Given the description of an element on the screen output the (x, y) to click on. 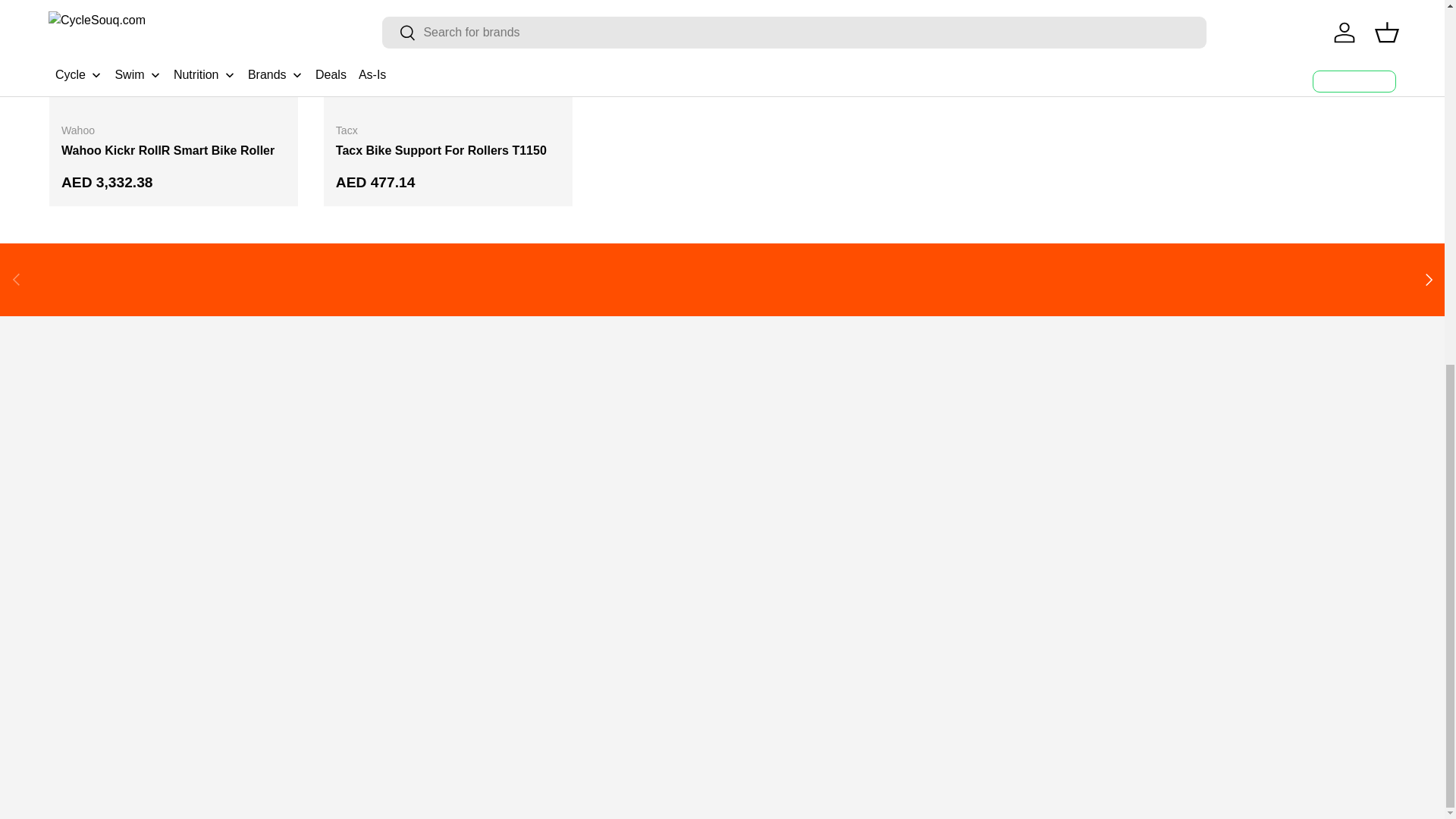
Wahoo Kickr RollR Smart Bike Roller (168, 150)
Tacx Bike Support For Rollers T1150 (441, 150)
PREVIOUS (16, 279)
